Given the description of an element on the screen output the (x, y) to click on. 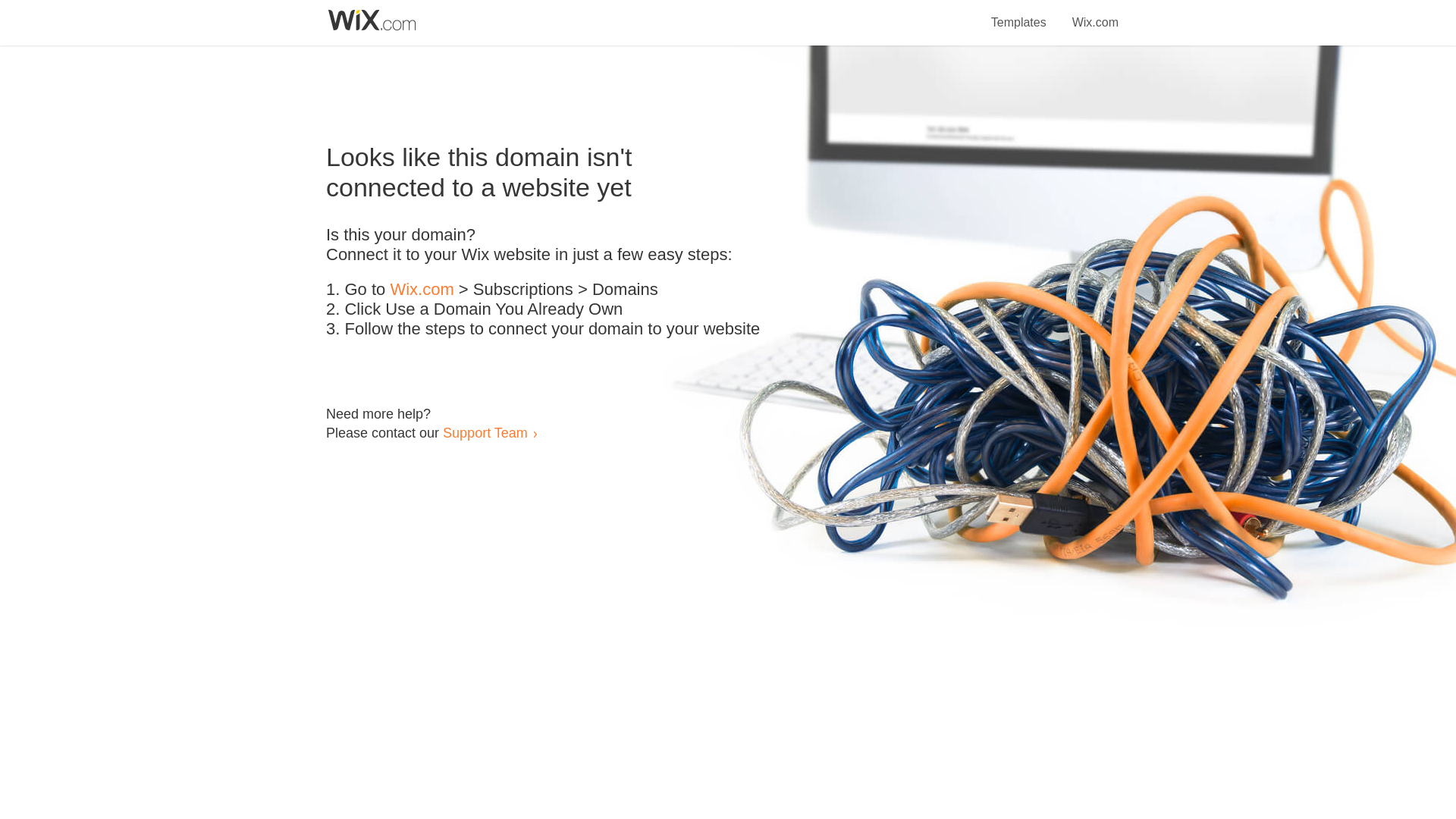
Wix.com (421, 289)
Templates (1018, 14)
Support Team (484, 432)
Wix.com (1095, 14)
